Given the description of an element on the screen output the (x, y) to click on. 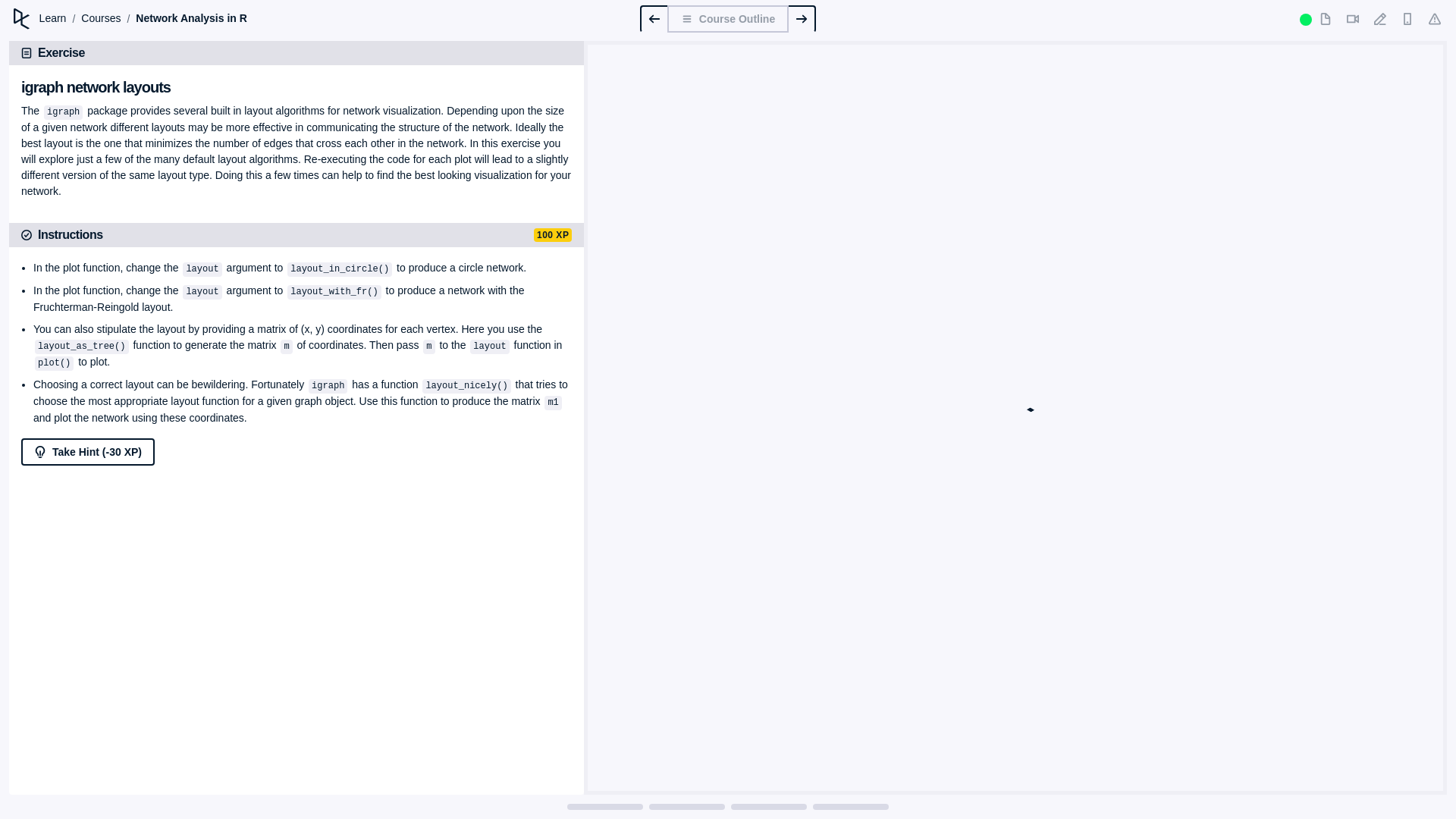
Course Outline (727, 18)
Learn (52, 18)
Courses (100, 18)
Network Analysis in R (191, 18)
